Given the description of an element on the screen output the (x, y) to click on. 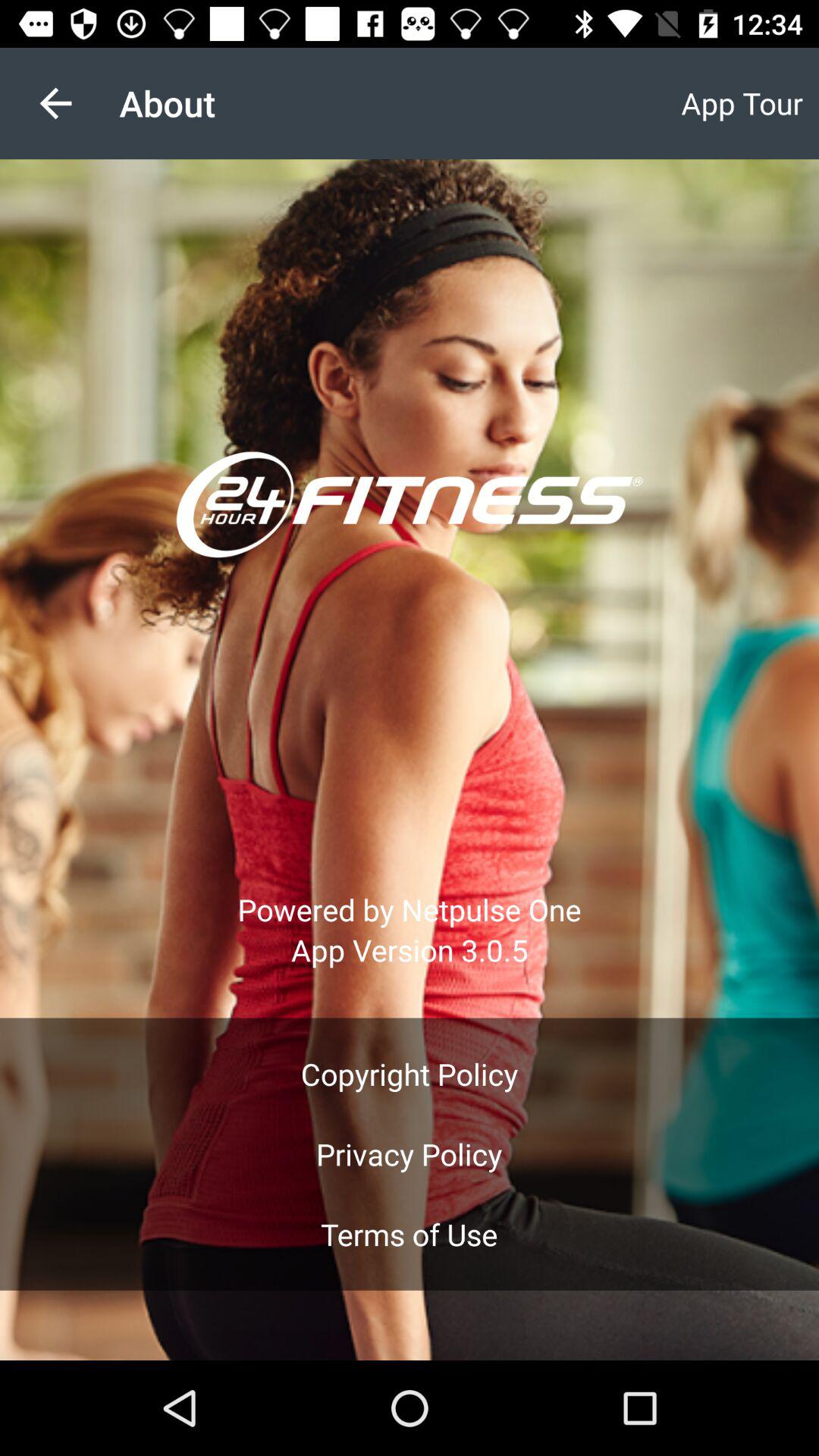
scroll to privacy policy (409, 1154)
